Given the description of an element on the screen output the (x, y) to click on. 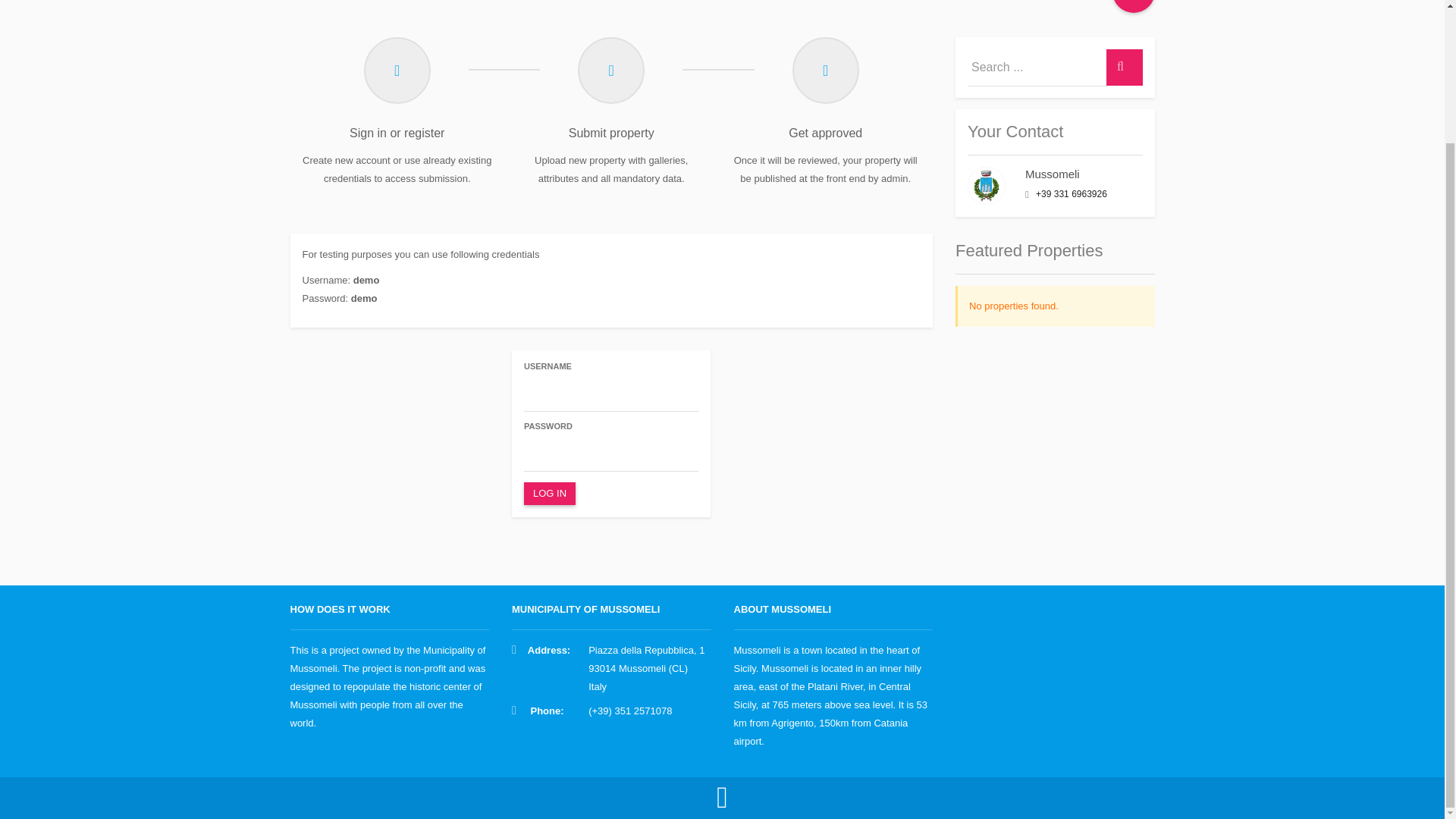
LOG IN (549, 494)
Mussomeli (1052, 173)
